Given the description of an element on the screen output the (x, y) to click on. 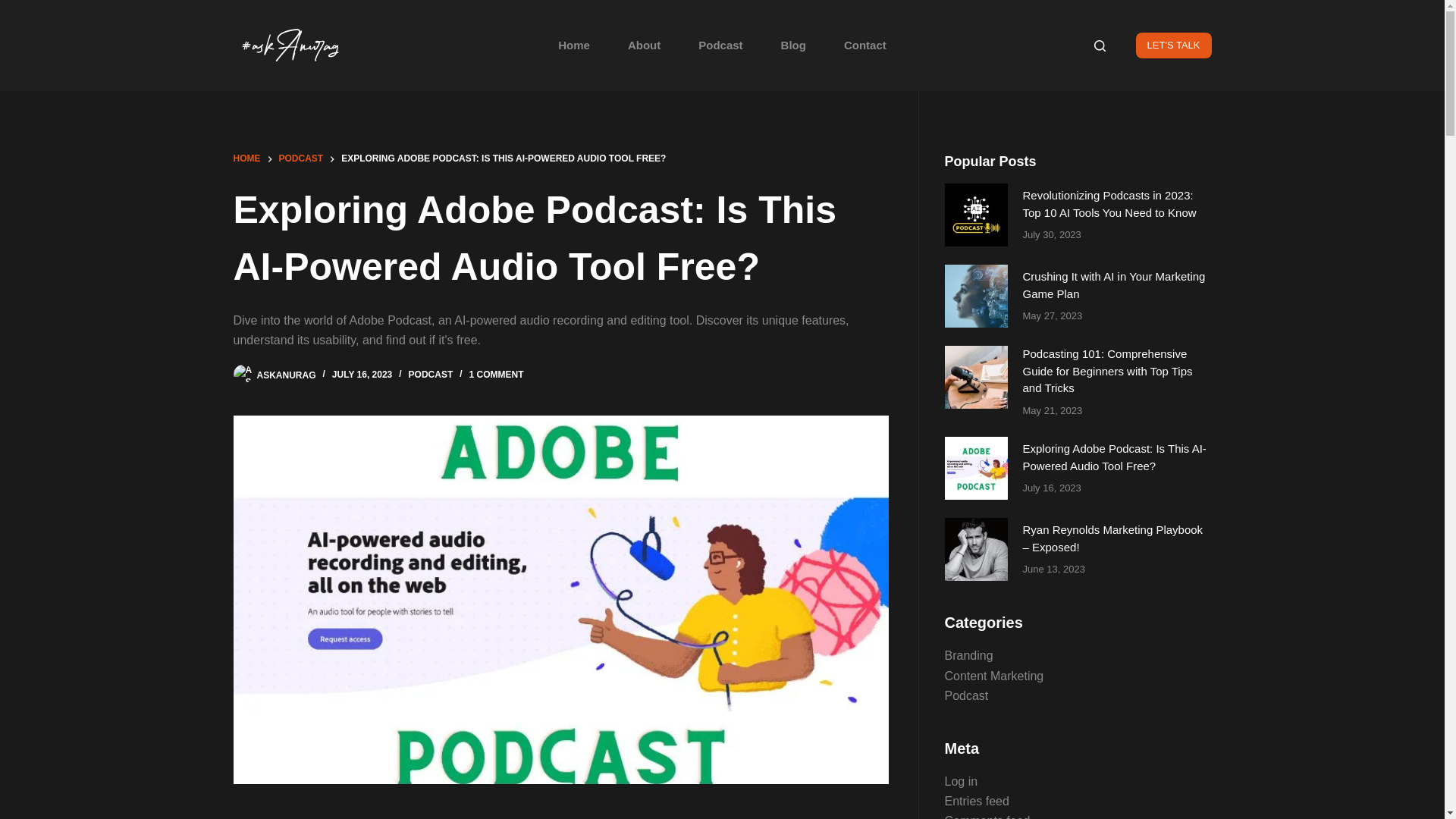
Blog (793, 45)
Skip to content (15, 7)
LET'S TALK (1173, 45)
PODCAST (301, 159)
Contact (865, 45)
Podcast (720, 45)
About (643, 45)
Posts by askanurag (285, 374)
Home (573, 45)
Exploring Adobe Podcast: Is This AI-Powered Audio Tool Free? (560, 238)
